Given the description of an element on the screen output the (x, y) to click on. 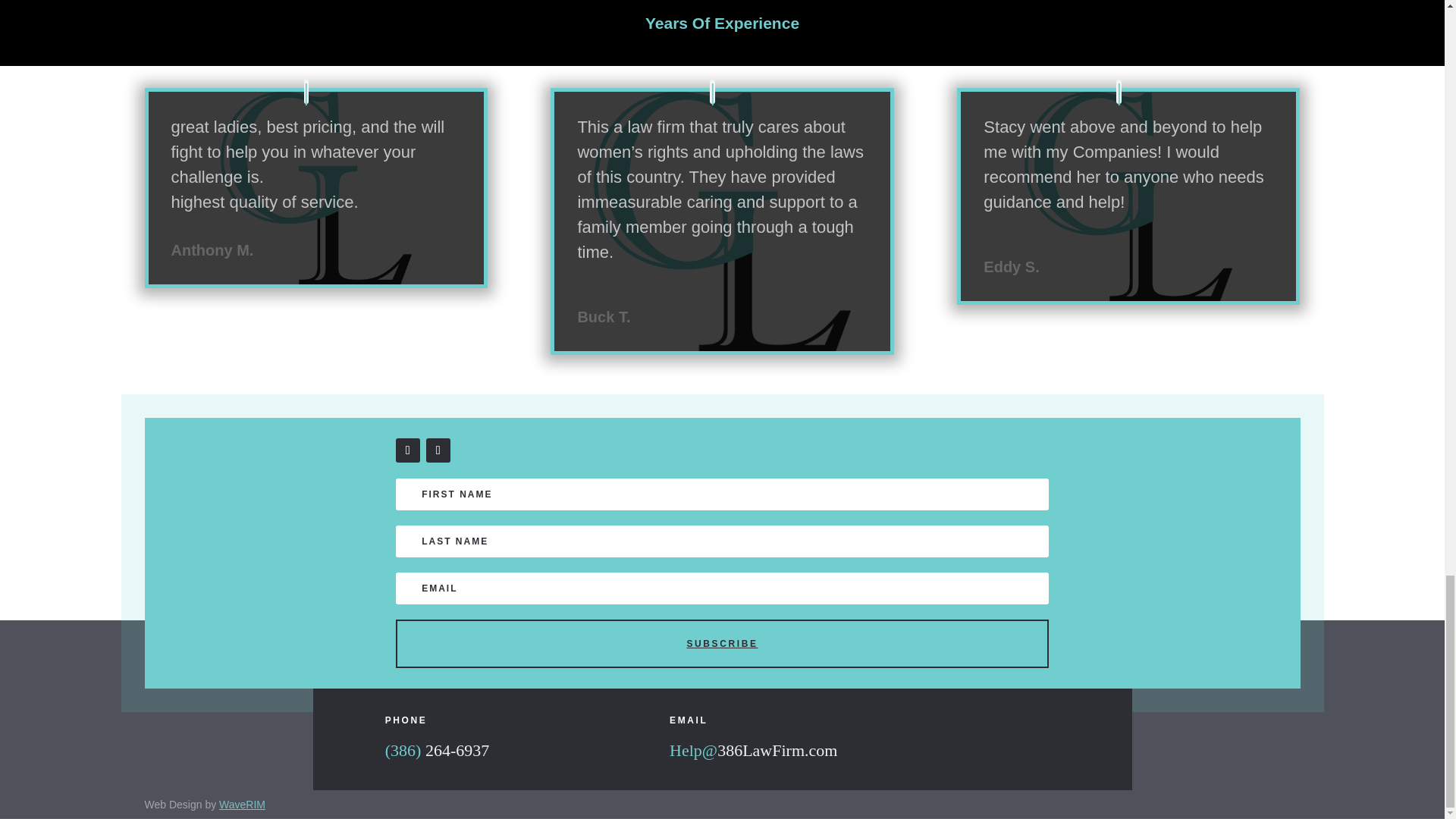
WaveRIM (241, 804)
Follow on LinkedIn (437, 450)
SUBSCRIBE (722, 643)
Follow on Facebook (408, 450)
